Given the description of an element on the screen output the (x, y) to click on. 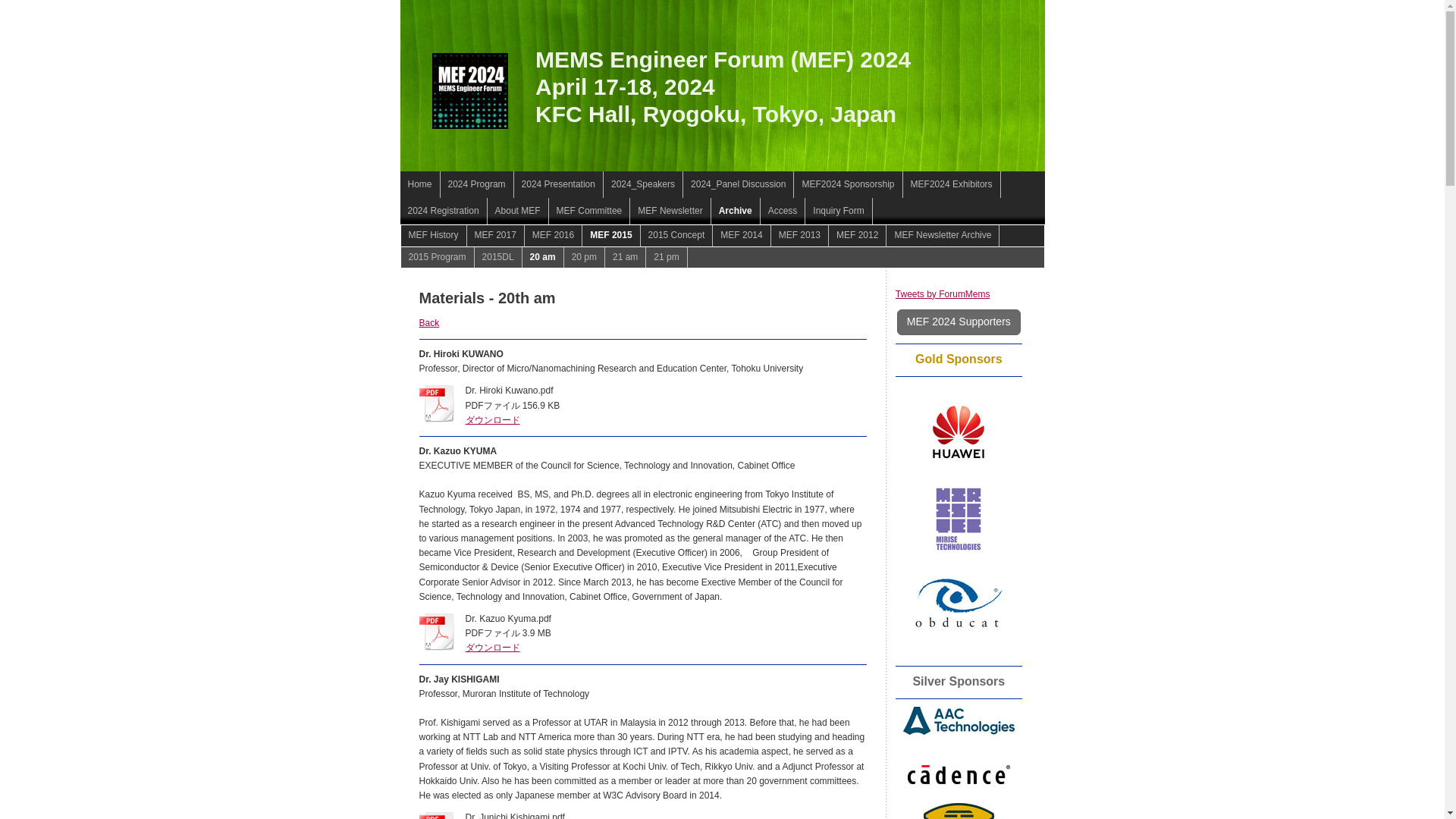
2015 Concept (676, 235)
MEF Newsletter (670, 211)
Archive (735, 211)
About MEF (517, 211)
MEF 2013 (799, 235)
Home (420, 184)
Inquiry Form (838, 211)
MEF 2016 (553, 235)
2015DL (429, 322)
2024 Presentation (558, 184)
